Given the description of an element on the screen output the (x, y) to click on. 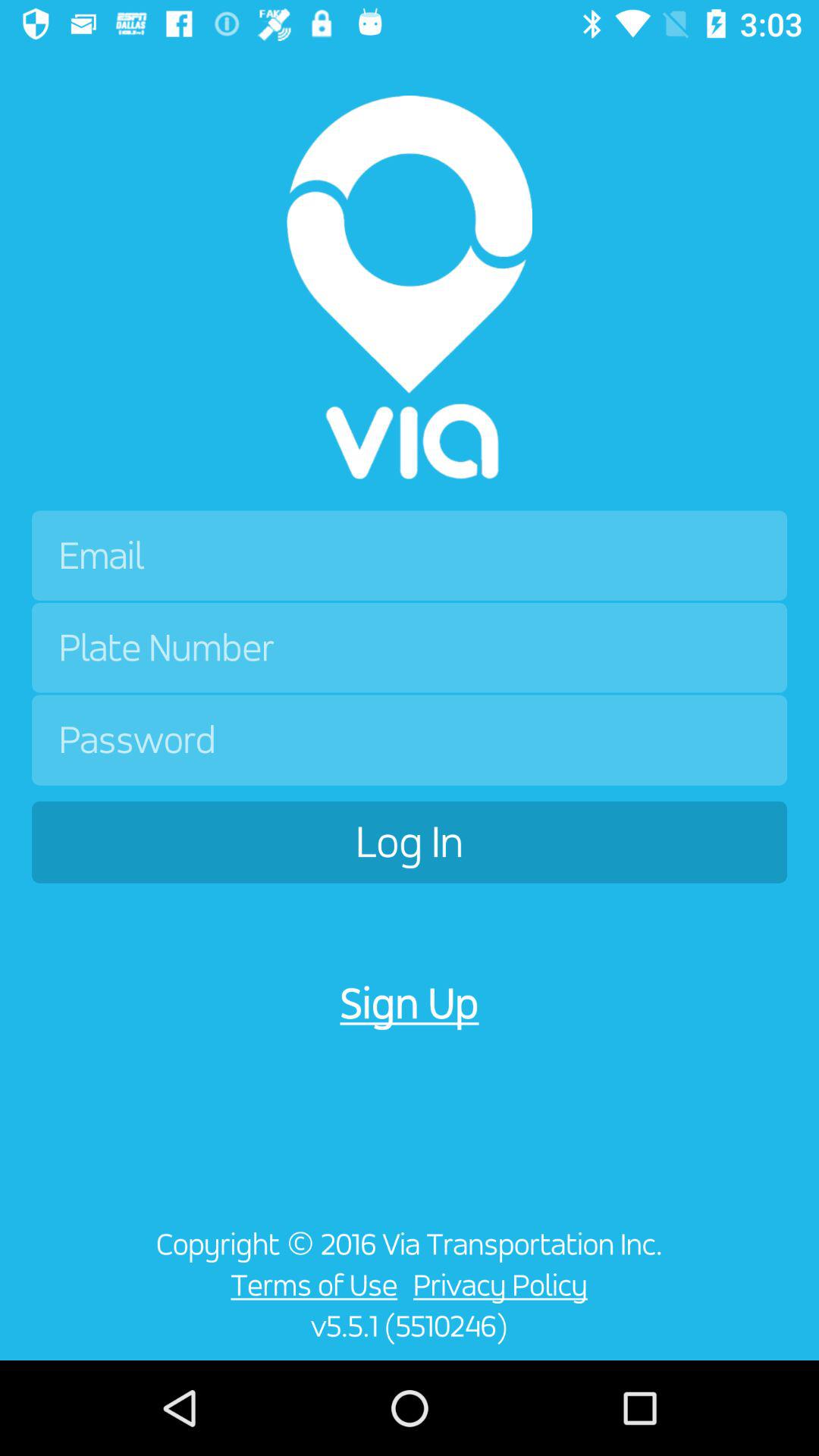
scroll to terms of use (309, 1284)
